Given the description of an element on the screen output the (x, y) to click on. 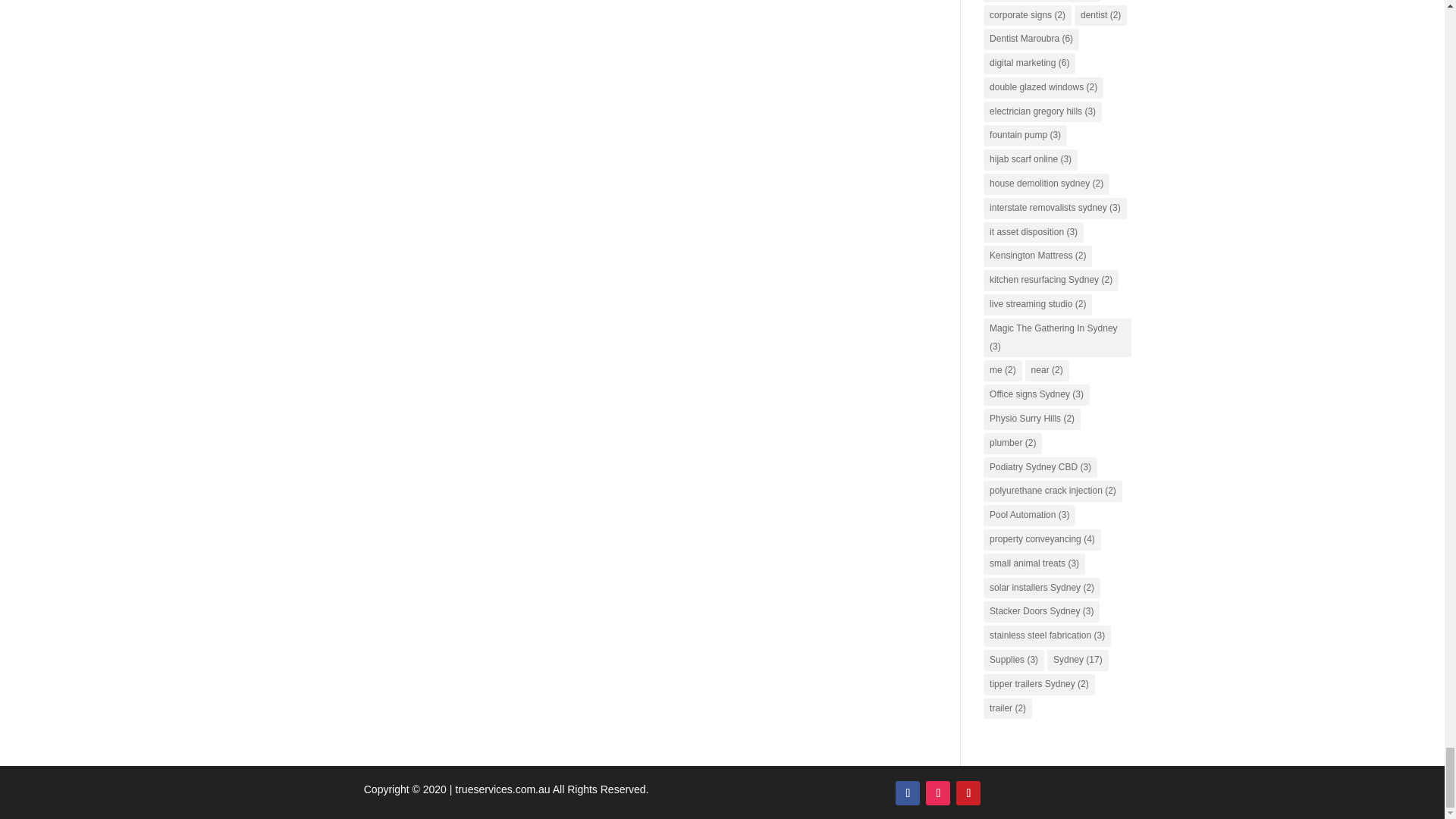
Follow on Facebook (907, 793)
Follow on Pinterest (967, 793)
Follow on Instagram (938, 793)
